Given the description of an element on the screen output the (x, y) to click on. 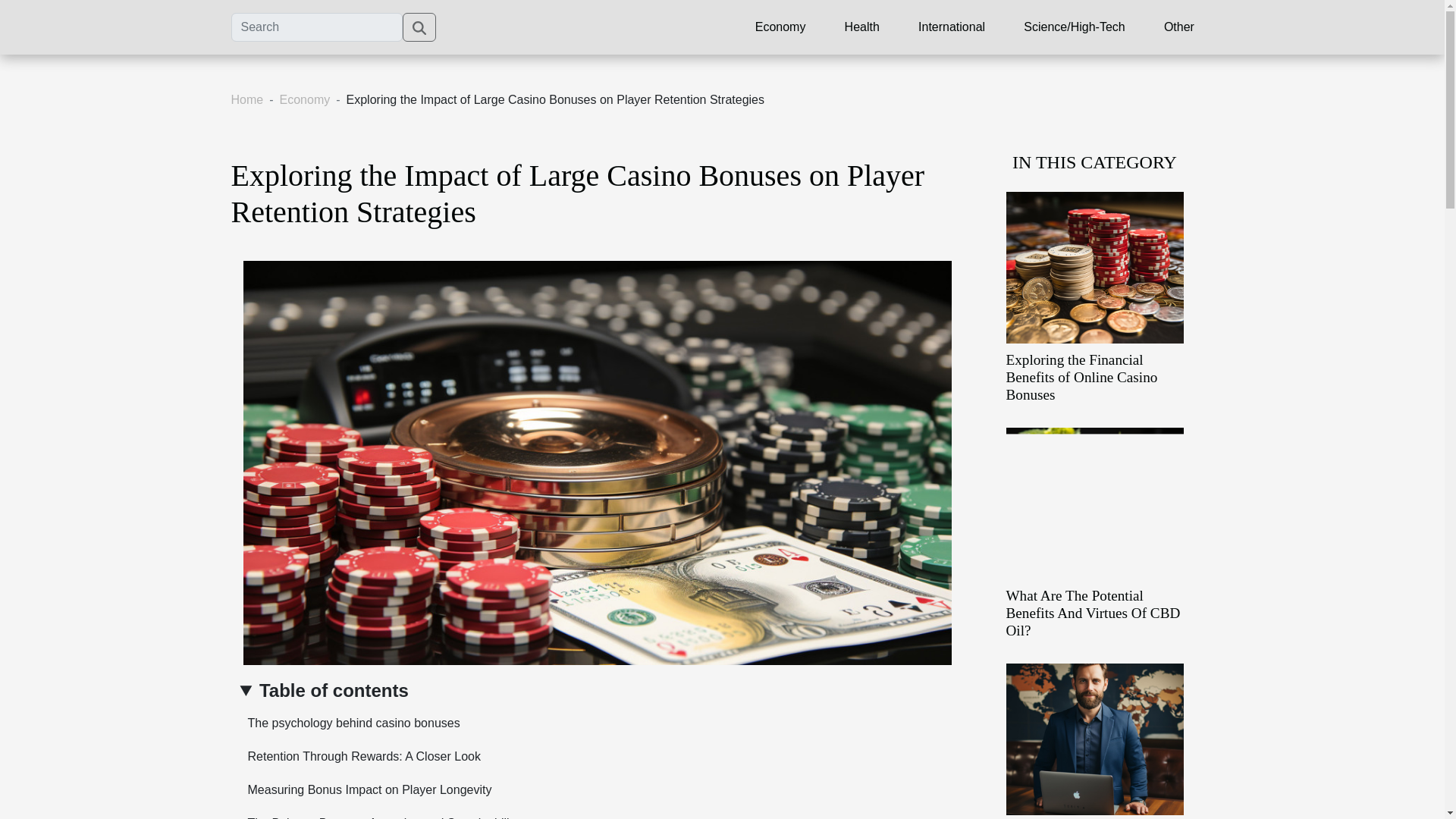
What Are The Potential Benefits And Virtues Of CBD Oil? (1092, 613)
Exploring the Financial Benefits of Online Casino Bonuses (1094, 266)
Home (246, 99)
Health (861, 27)
What Are The Potential Benefits And Virtues Of CBD Oil? (1092, 613)
Economy (780, 27)
Exploring the Financial Benefits of Online Casino Bonuses (1081, 377)
The psychology behind casino bonuses (350, 722)
What Are The Potential Benefits And Virtues Of CBD Oil? (1094, 502)
